Given the description of an element on the screen output the (x, y) to click on. 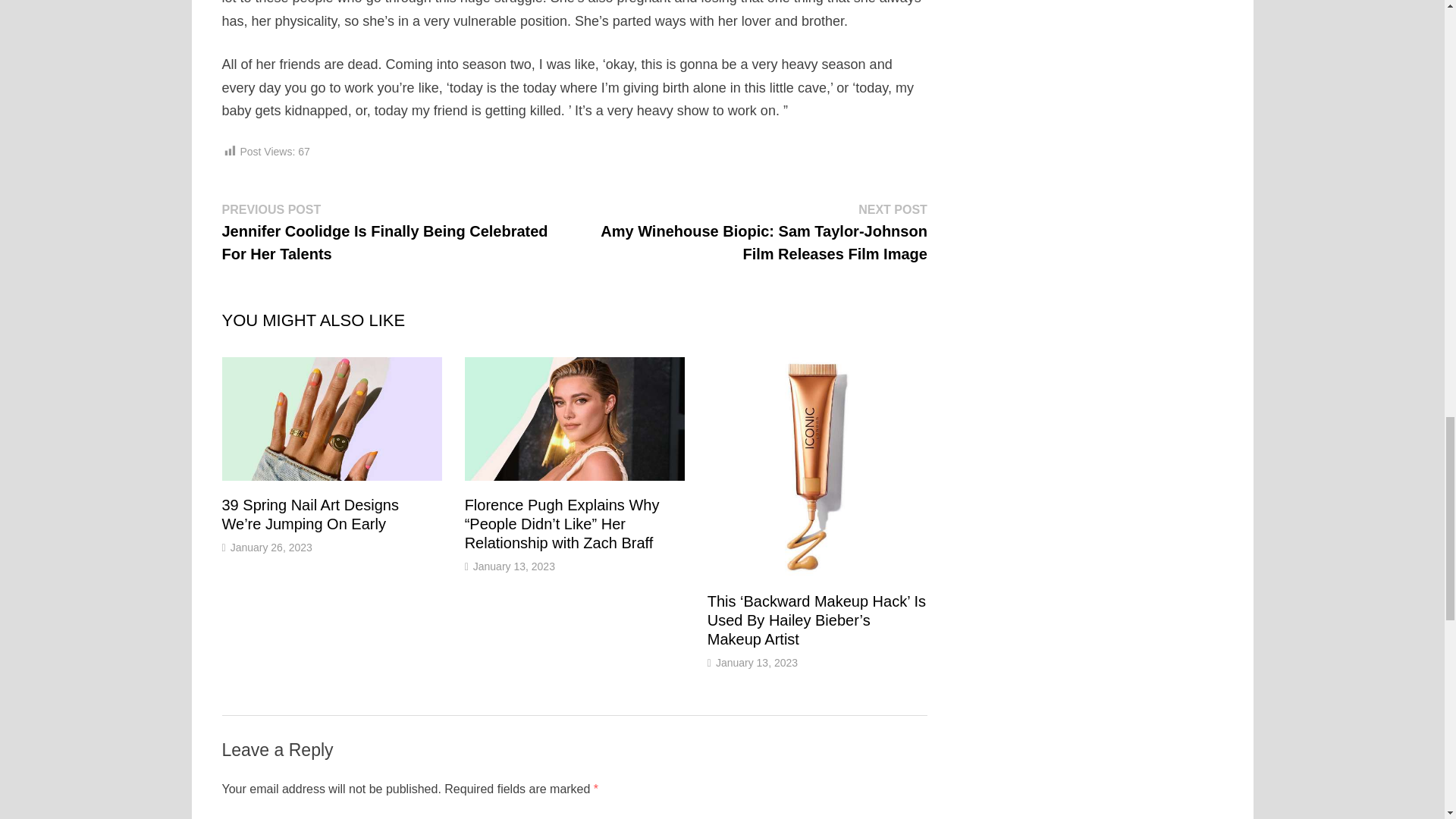
January 13, 2023 (756, 662)
January 13, 2023 (513, 566)
January 26, 2023 (271, 547)
